Given the description of an element on the screen output the (x, y) to click on. 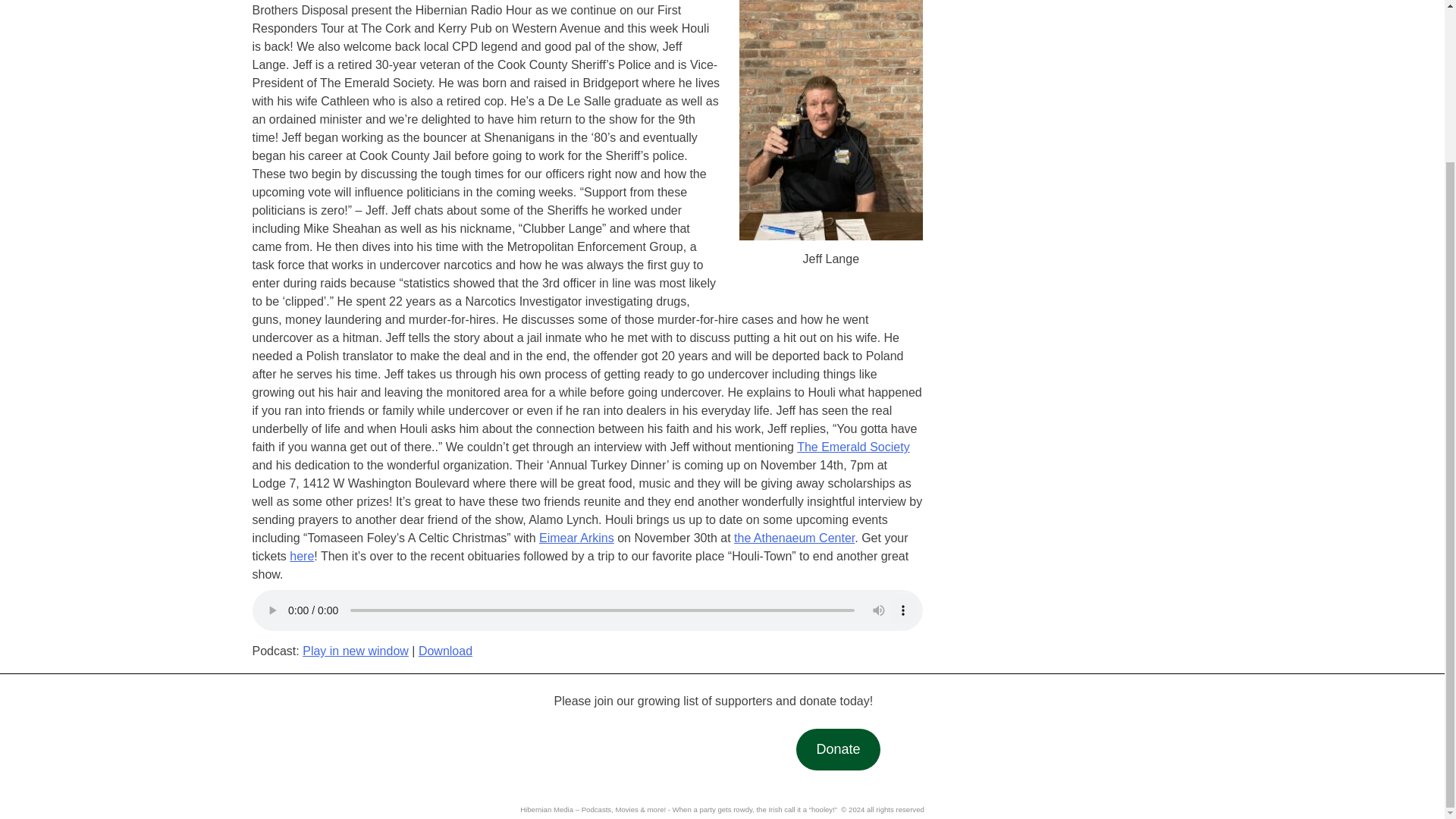
Donate (837, 749)
Play in new window (355, 650)
Download (445, 650)
Play in new window (355, 650)
The Emerald Society (853, 446)
Eimear Arkins (576, 537)
Download (445, 650)
here (301, 555)
the Athenaeum Center (793, 537)
